Given the description of an element on the screen output the (x, y) to click on. 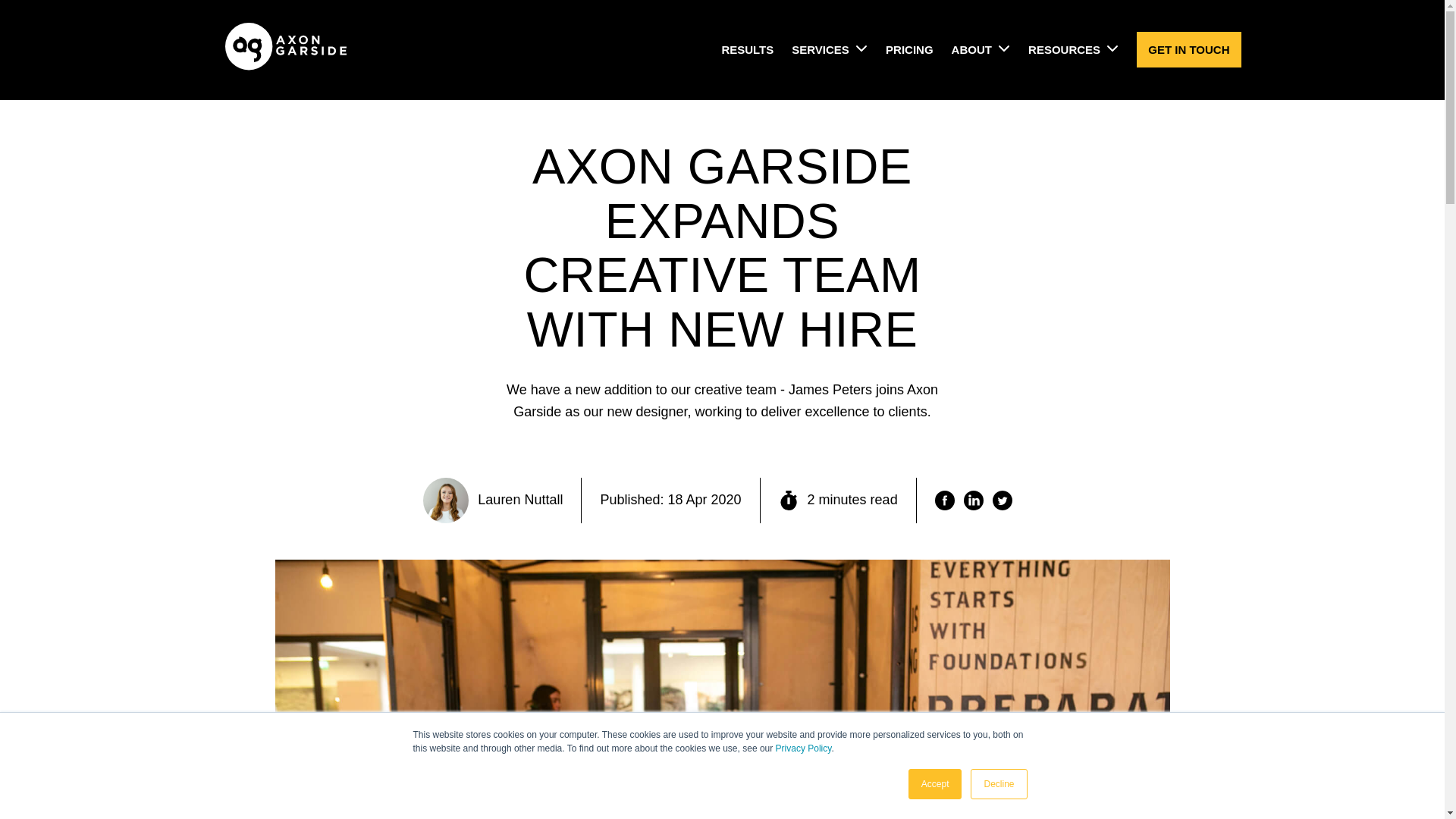
Accept (935, 784)
Decline (998, 784)
GET IN TOUCH (1188, 49)
AG-LOGO-B (285, 46)
AG-LOGO-B (285, 65)
RESOURCES (1072, 49)
Lauren Nuttall (492, 500)
Privacy Policy (803, 747)
